Given the description of an element on the screen output the (x, y) to click on. 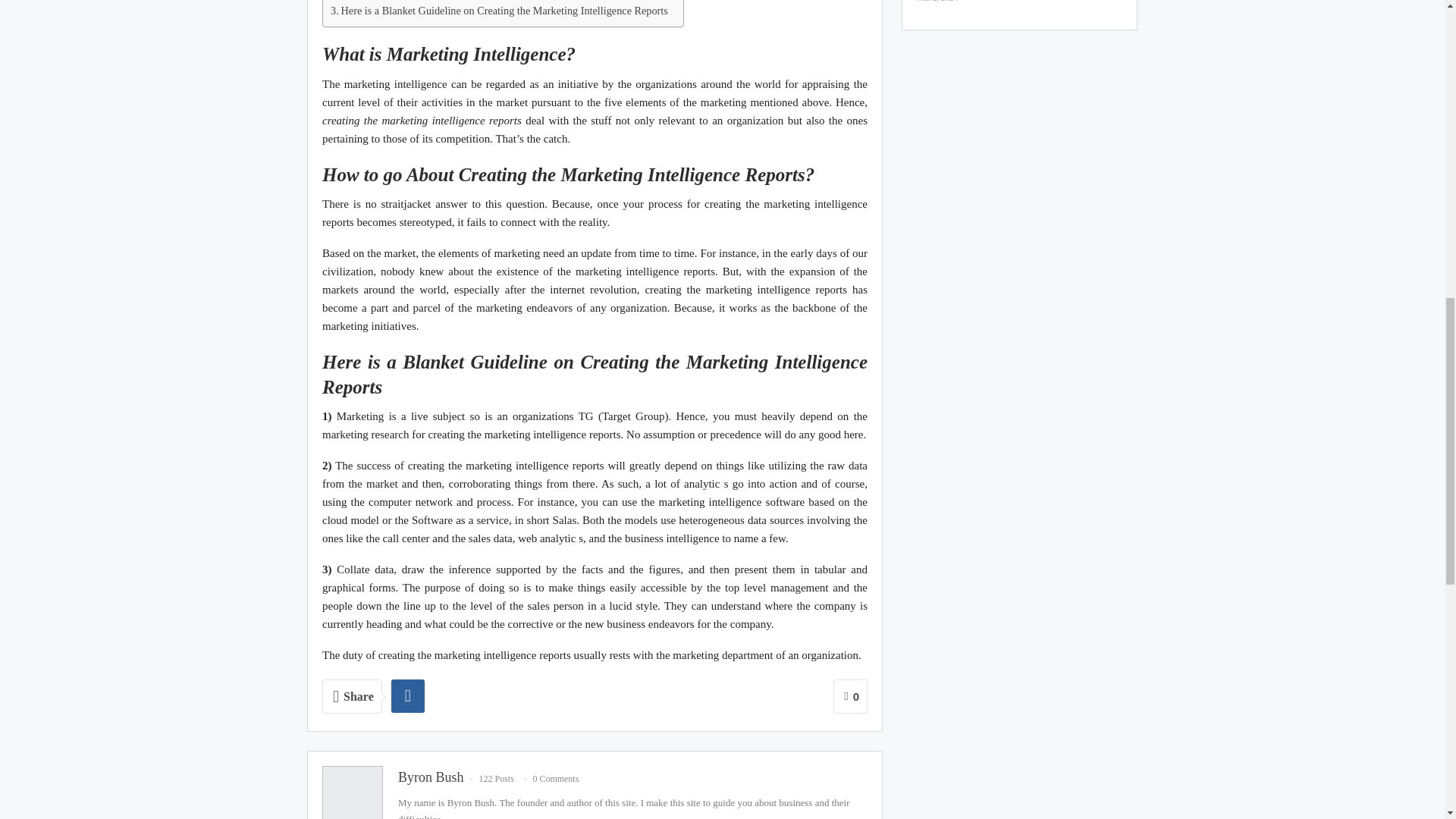
0 (849, 696)
Byron Bush (430, 776)
